Given the description of an element on the screen output the (x, y) to click on. 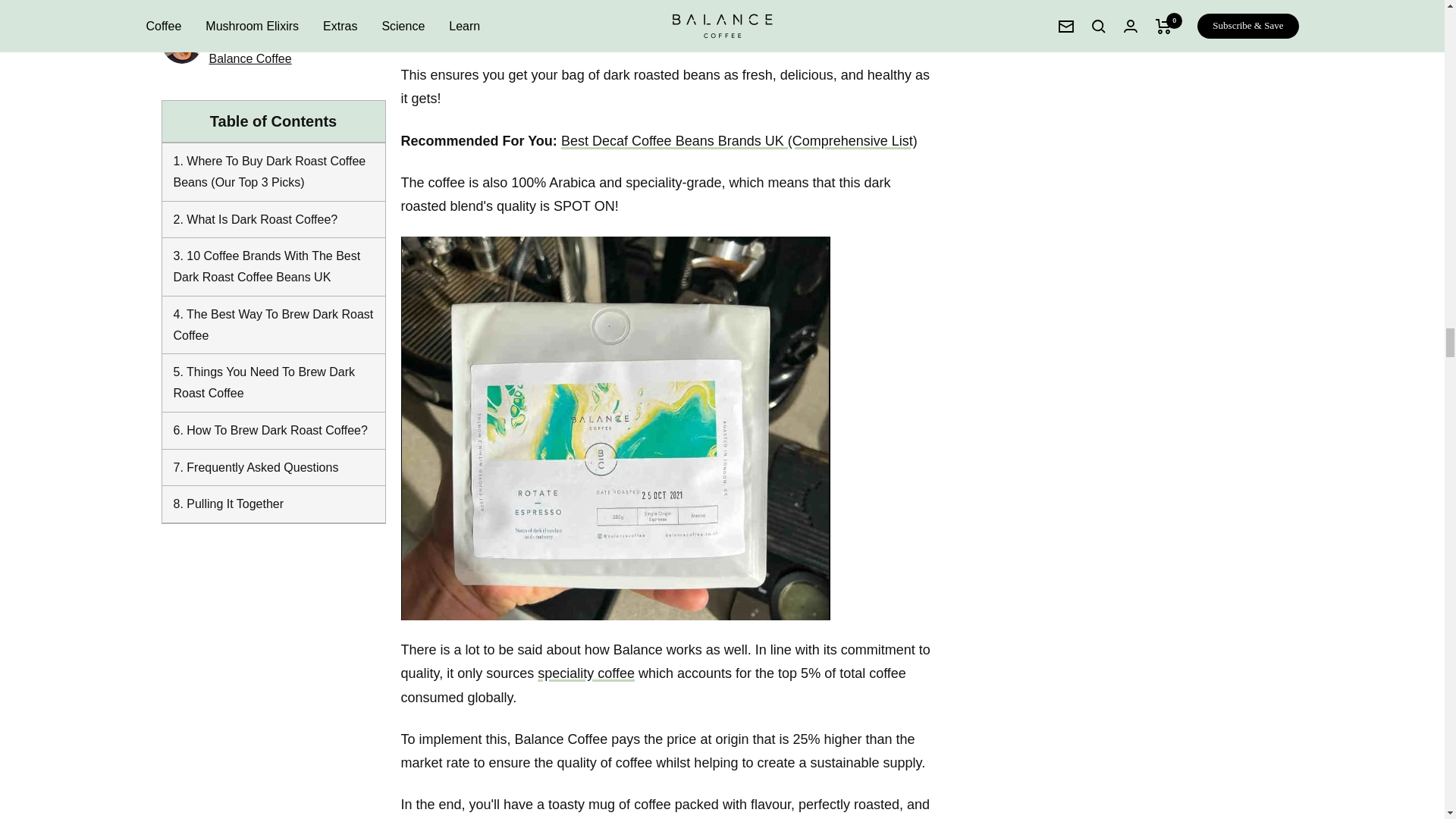
Best Decaf Coffee Beans (738, 140)
